Given the description of an element on the screen output the (x, y) to click on. 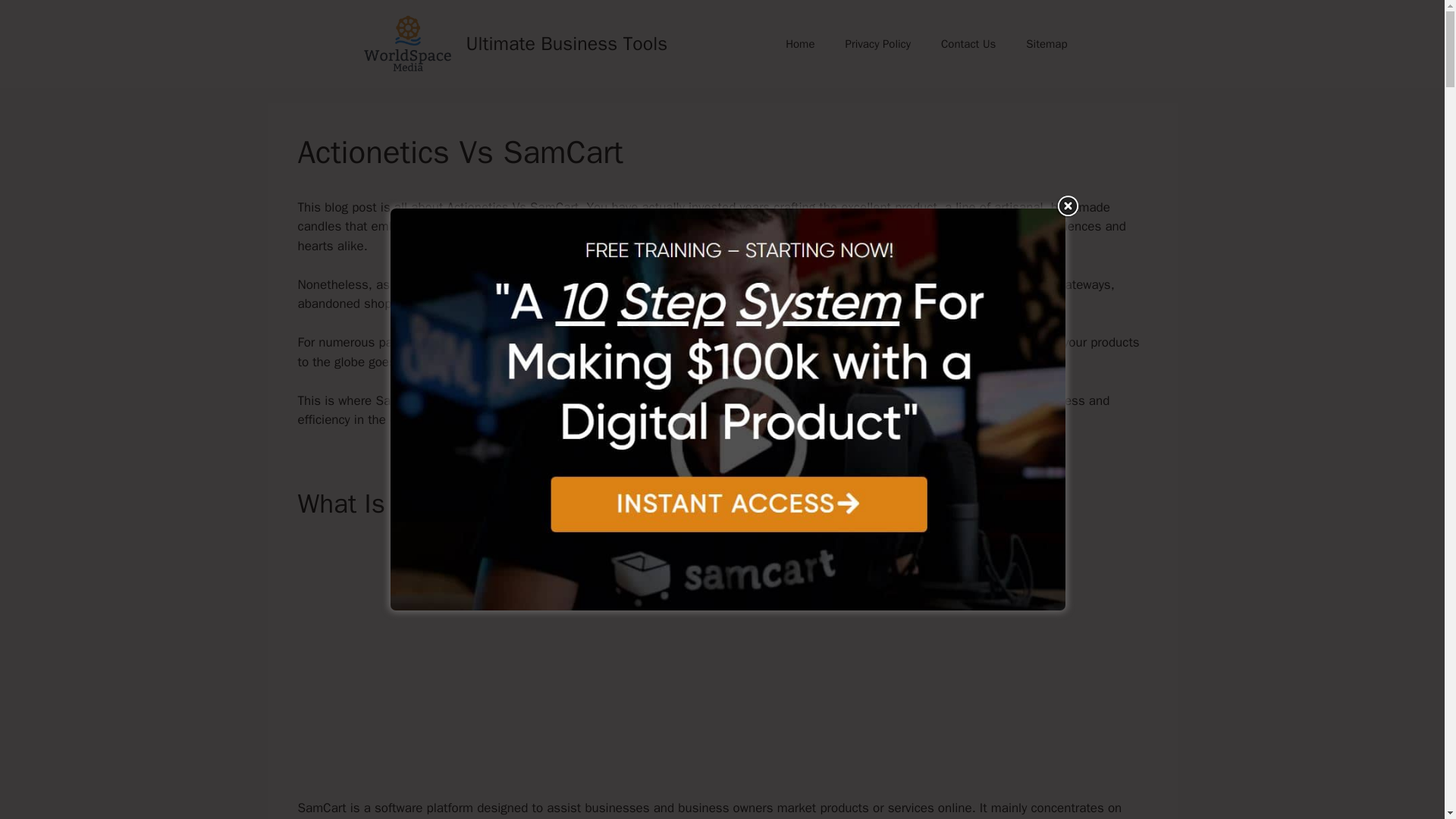
Home (799, 43)
YouTube video player (717, 653)
Contact Us (968, 43)
Privacy Policy (877, 43)
Sitemap (1045, 43)
Ultimate Business Tools (565, 43)
